Given the description of an element on the screen output the (x, y) to click on. 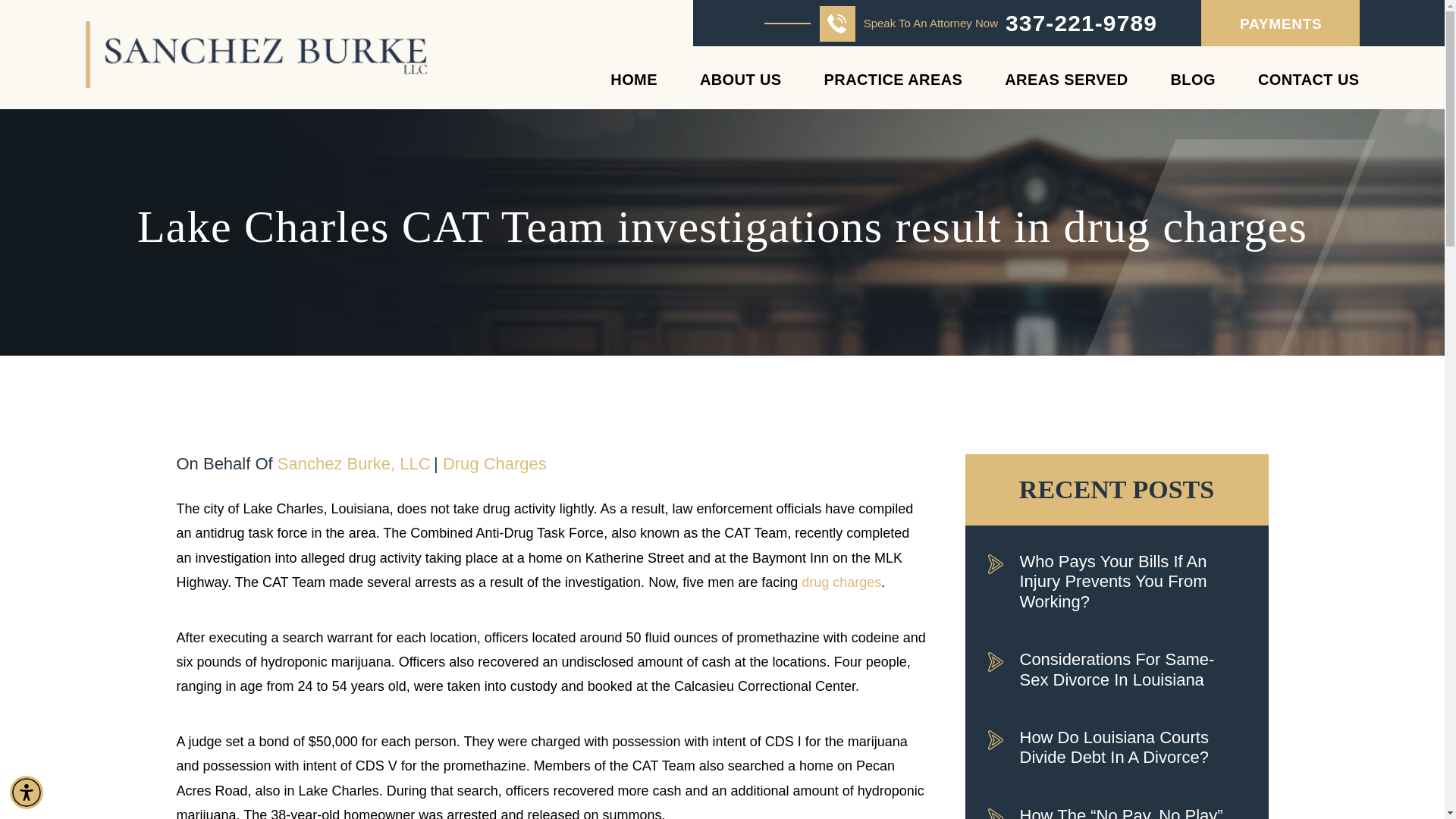
PRACTICE AREAS (893, 90)
ABOUT US (740, 90)
CONTACT US (1308, 90)
PAYMENTS (1280, 22)
BLOG (1192, 90)
HOME (634, 90)
337-221-9789 (1081, 23)
AREAS SERVED (1065, 90)
Accessibility Menu (26, 792)
